Given the description of an element on the screen output the (x, y) to click on. 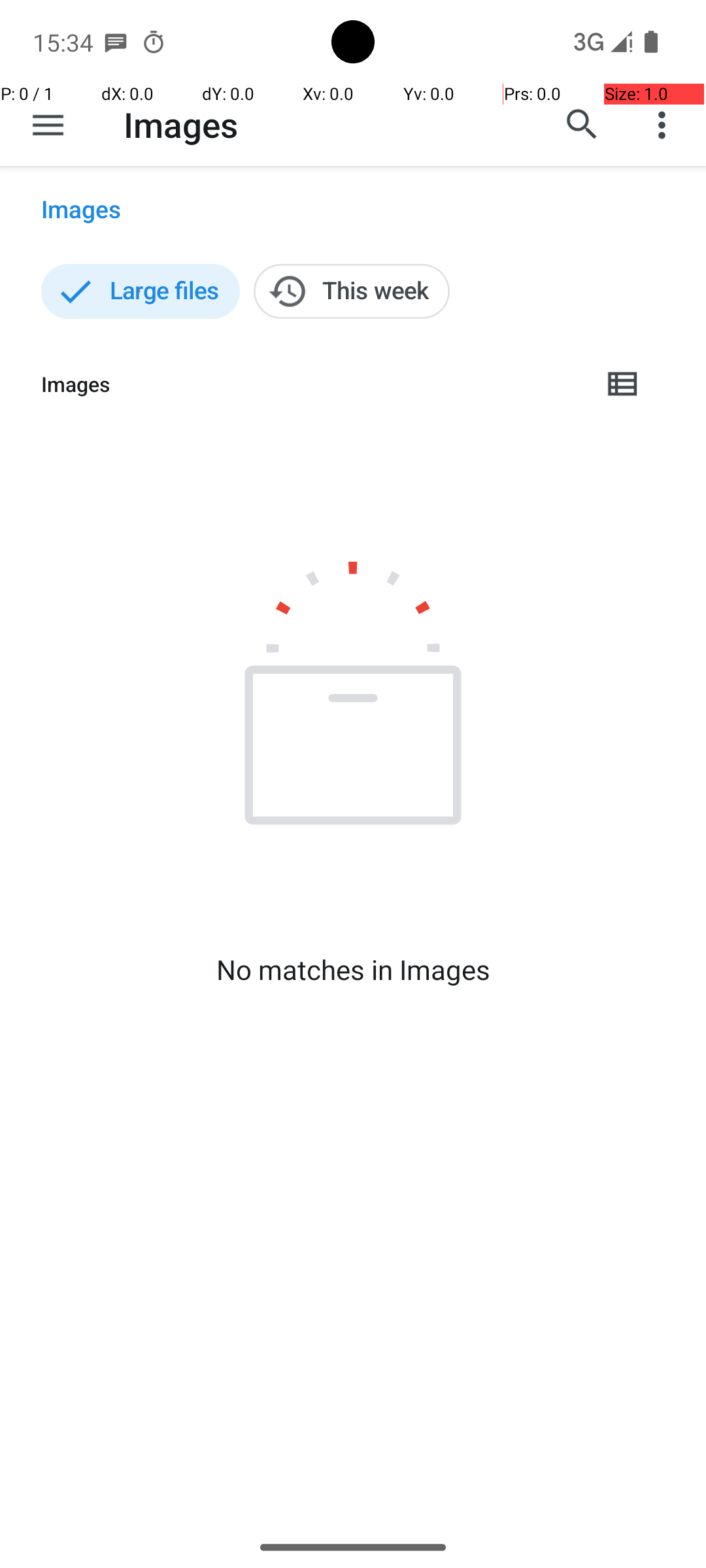
No matches in Images Element type: android.widget.TextView (352, 968)
